Given the description of an element on the screen output the (x, y) to click on. 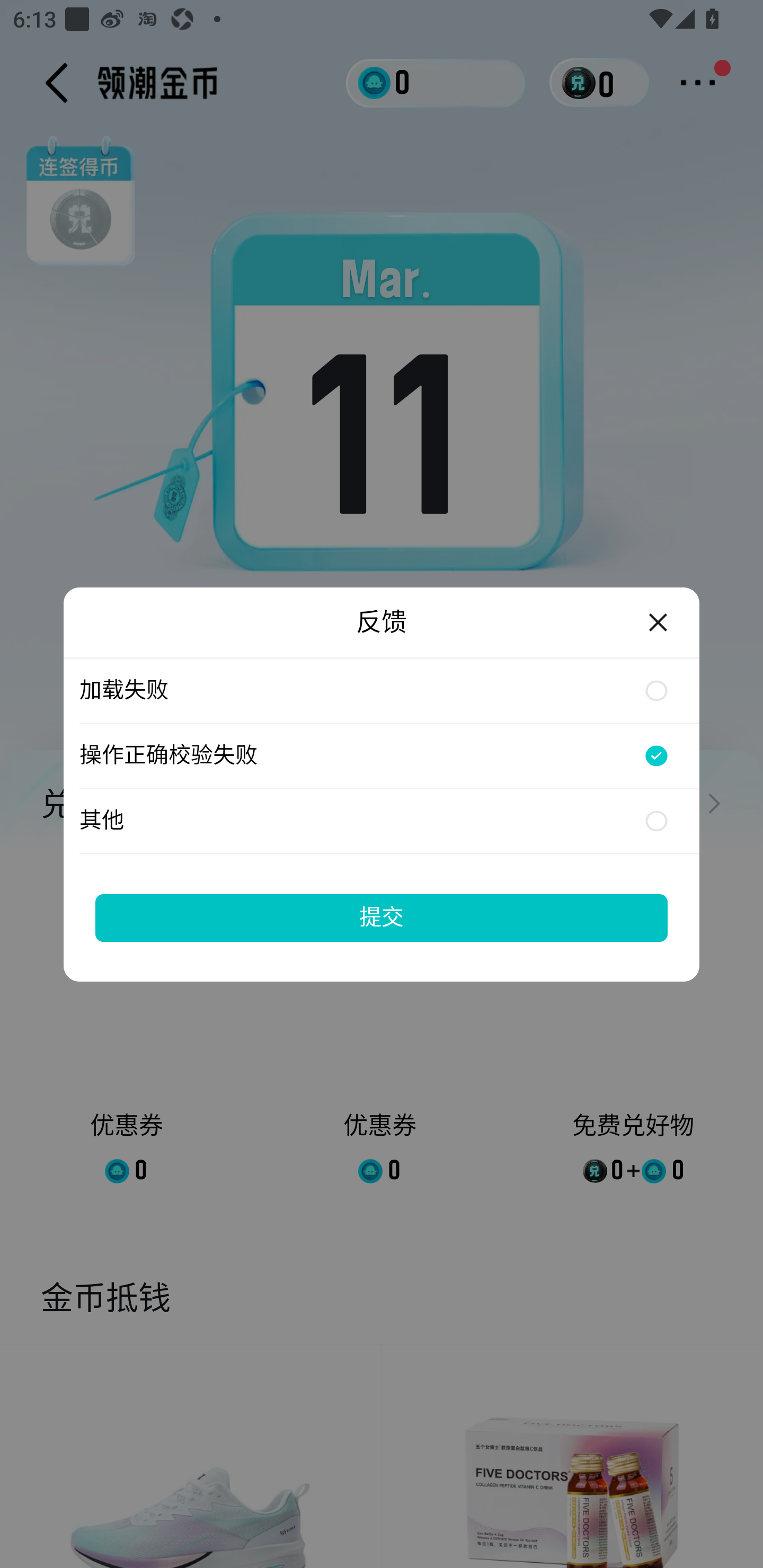
提交 (381, 917)
